Given the description of an element on the screen output the (x, y) to click on. 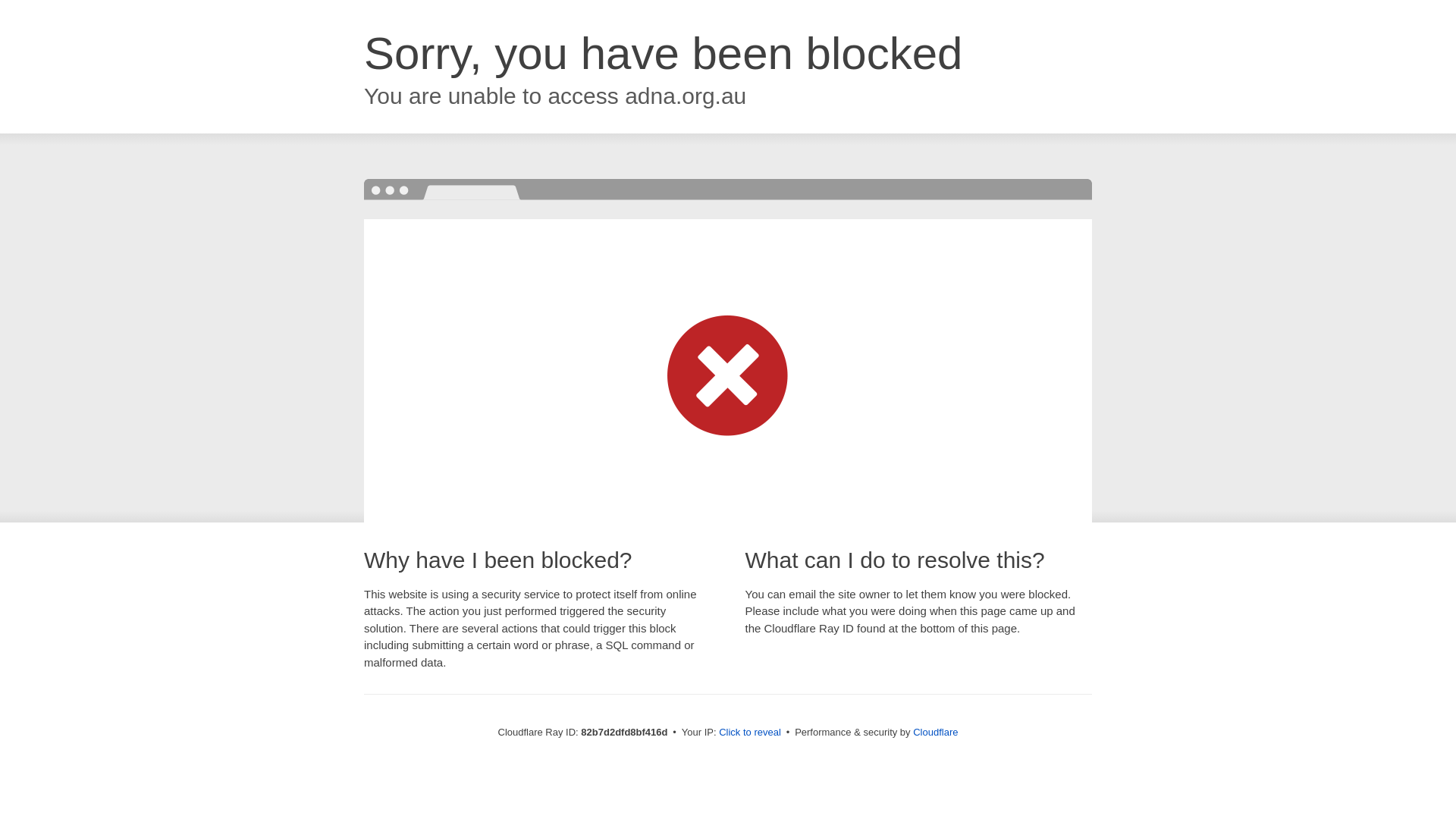
Cloudflare Element type: text (935, 731)
Click to reveal Element type: text (749, 732)
